Given the description of an element on the screen output the (x, y) to click on. 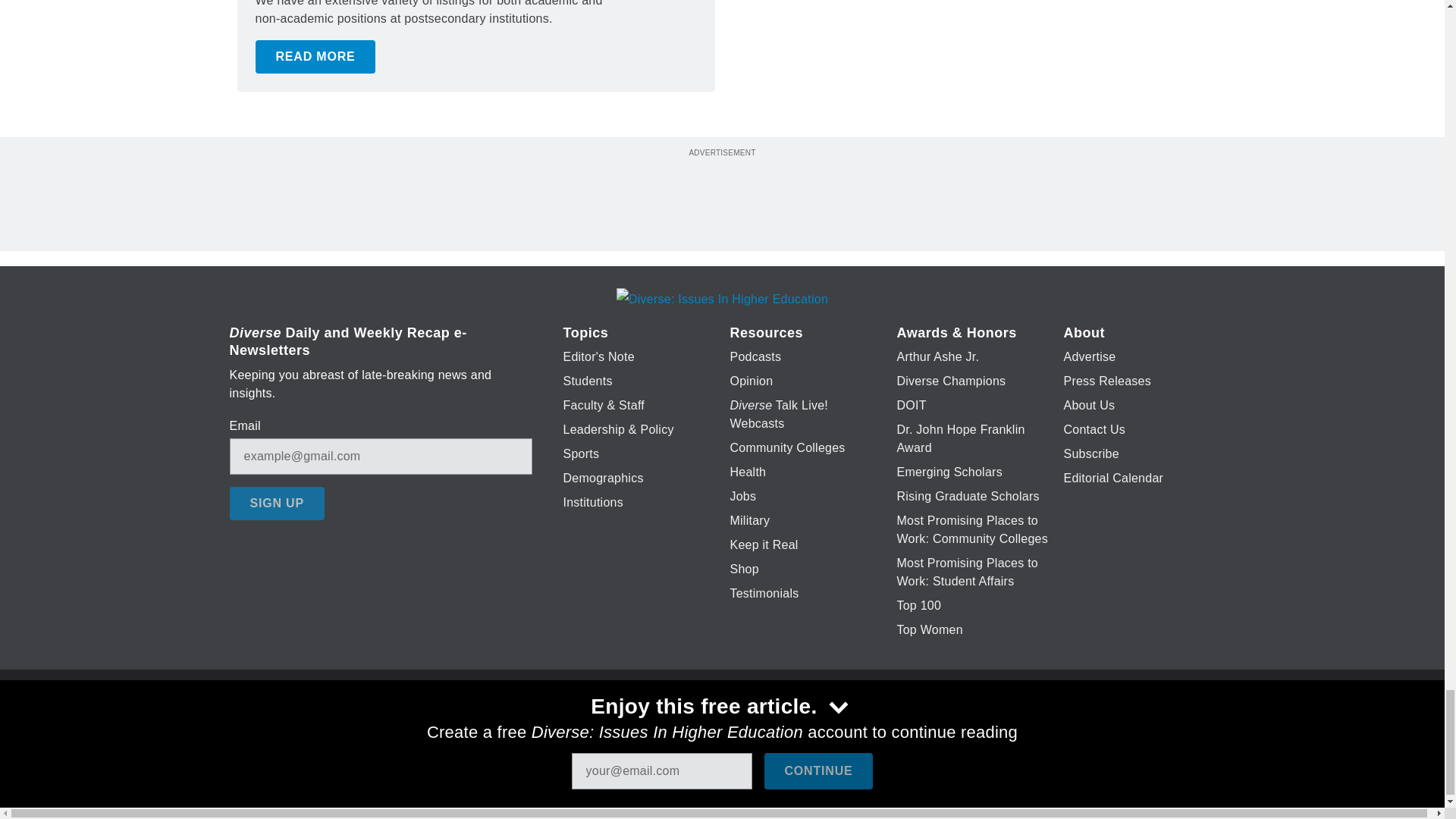
Instagram icon (796, 727)
YouTube icon (757, 727)
Facebook icon (635, 727)
Twitter X icon (674, 727)
LinkedIn icon (718, 727)
